Given the description of an element on the screen output the (x, y) to click on. 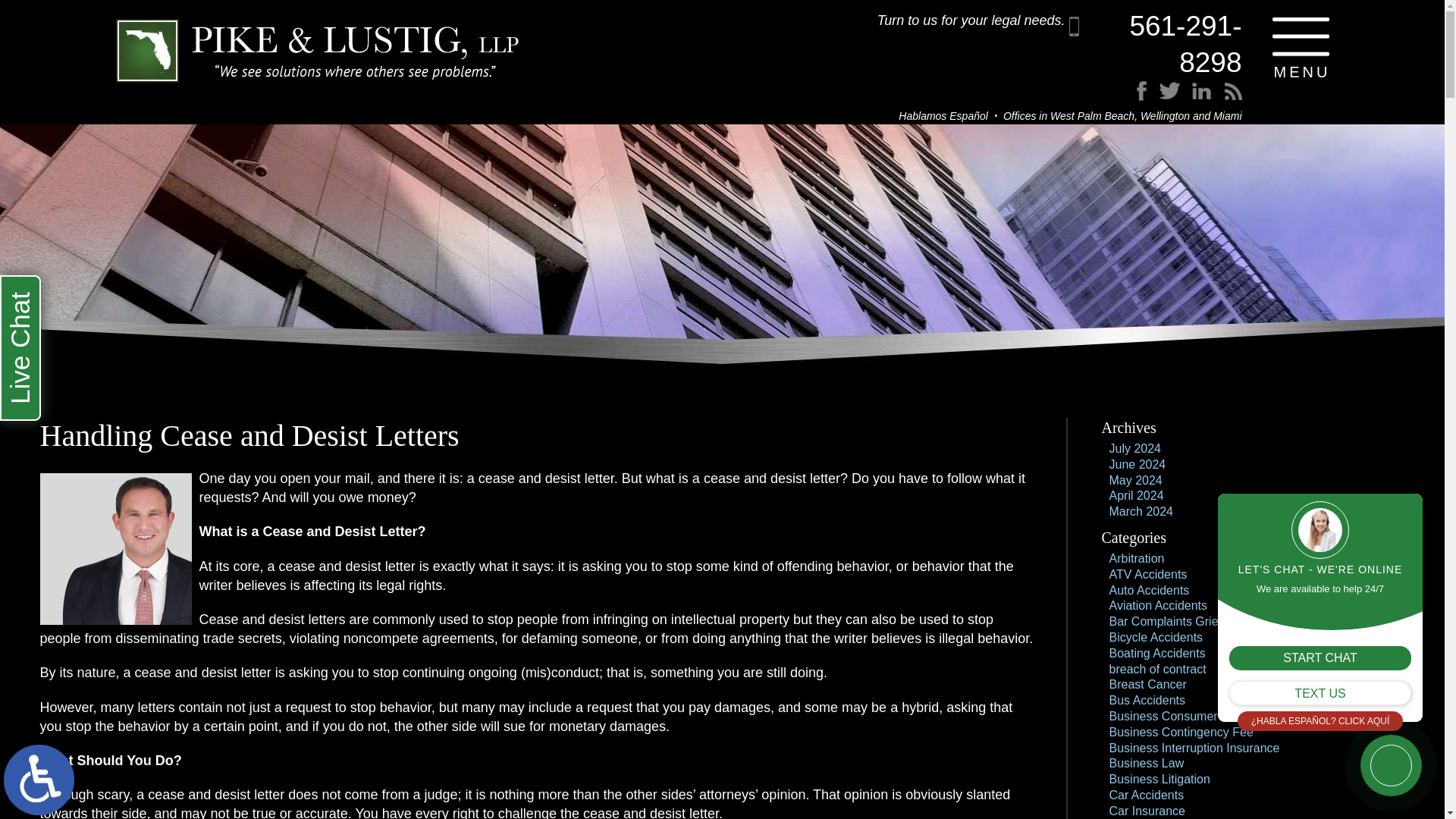
robert-johnson (114, 548)
RSS (1206, 100)
Twitter (1182, 100)
LinkedIn (1193, 100)
Facebook (1172, 100)
